Given the description of an element on the screen output the (x, y) to click on. 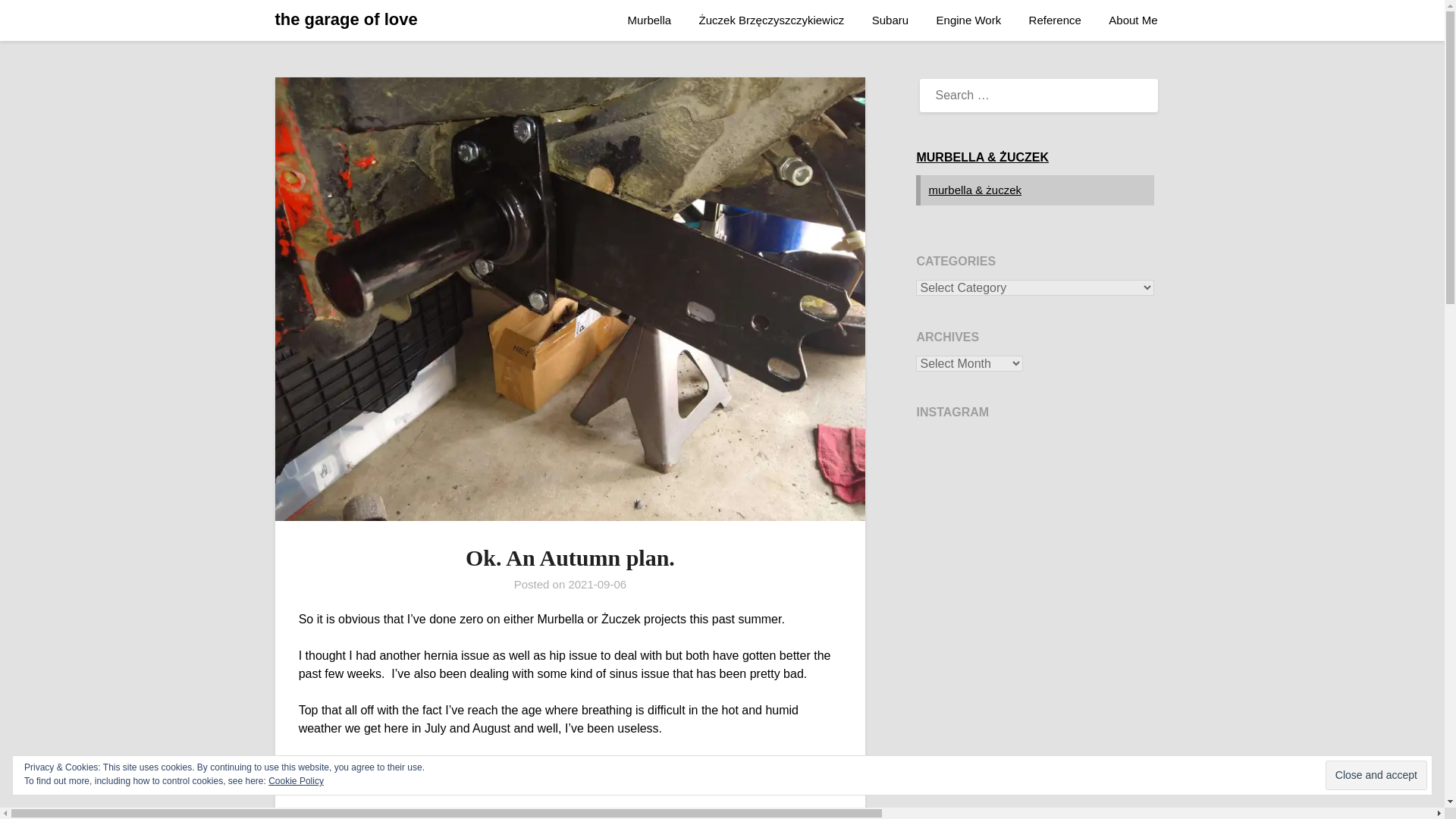
Murbella (649, 20)
Search (38, 22)
About Me (1132, 20)
the garage of love (345, 19)
Subaru (890, 20)
2021-09-06 (596, 584)
Engine Work (968, 20)
Reference (1054, 20)
Airing out Mr Z. (1034, 548)
Close and accept (1375, 775)
